Given the description of an element on the screen output the (x, y) to click on. 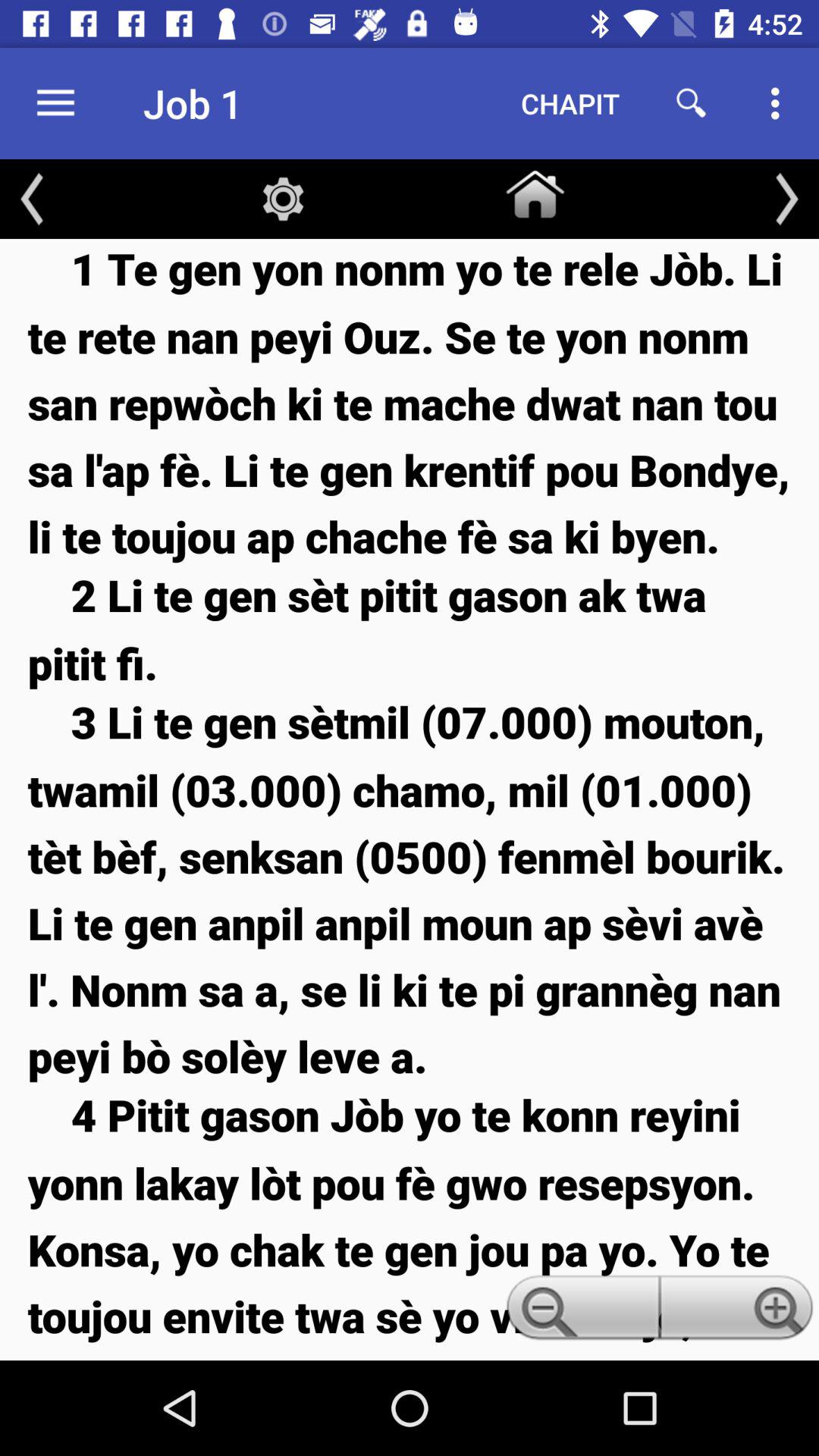
turn off the item above the 1 te gen item (31, 198)
